Given the description of an element on the screen output the (x, y) to click on. 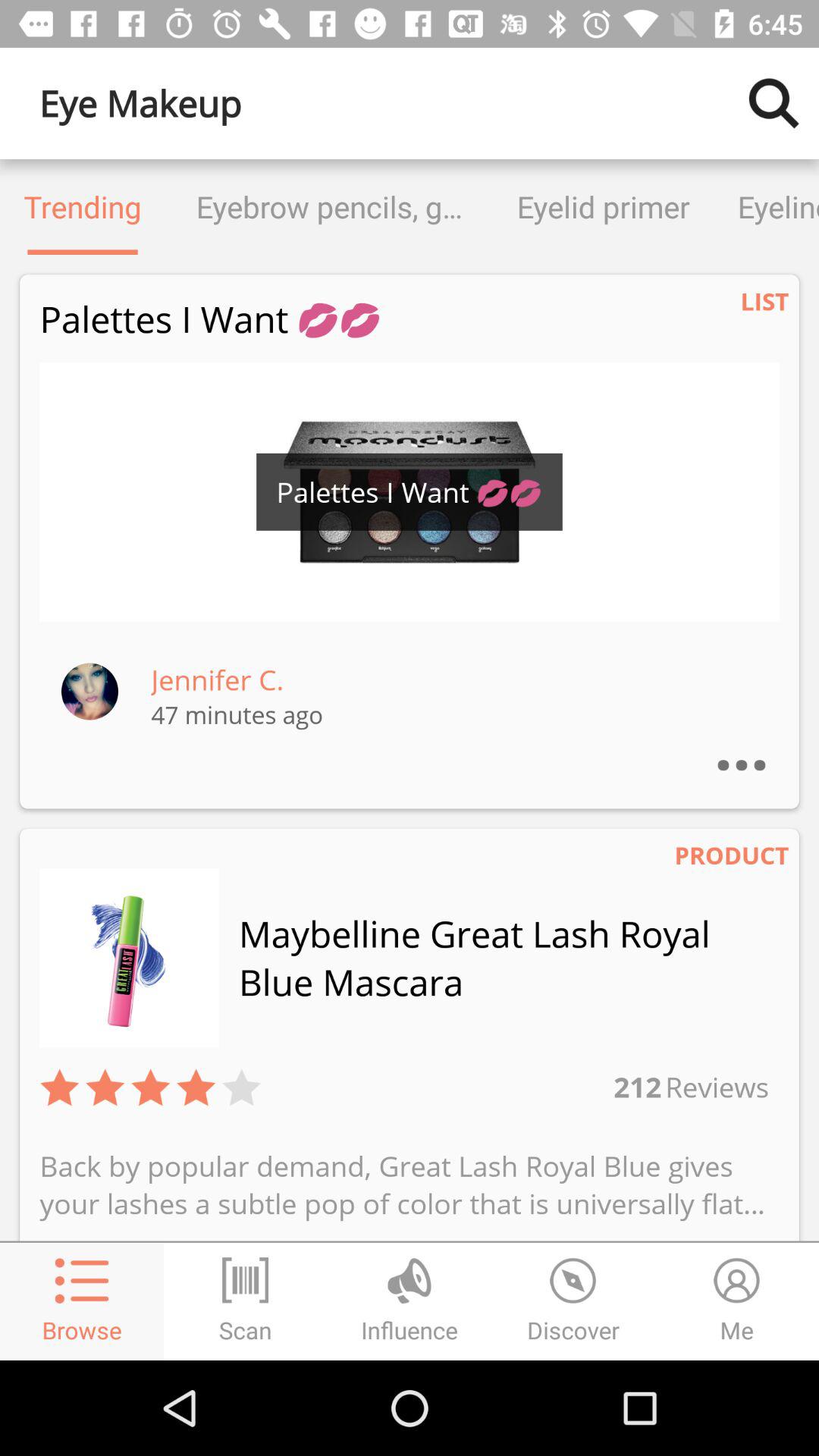
click the icon next to the eyebrow pencils gels icon (82, 206)
